Given the description of an element on the screen output the (x, y) to click on. 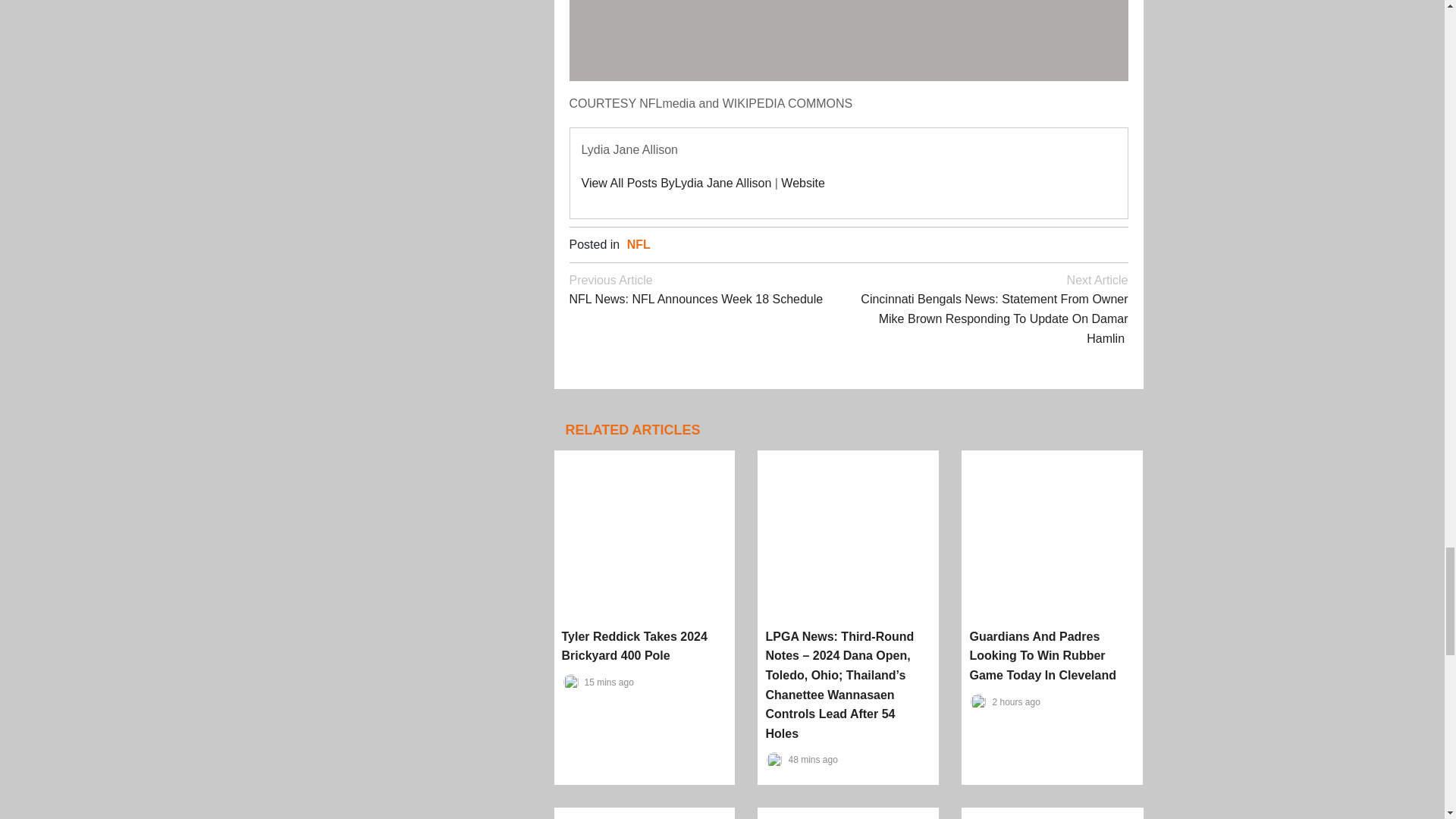
View All Posts ByLydia Jane Allison (675, 182)
Website (708, 288)
NFL (802, 182)
